Given the description of an element on the screen output the (x, y) to click on. 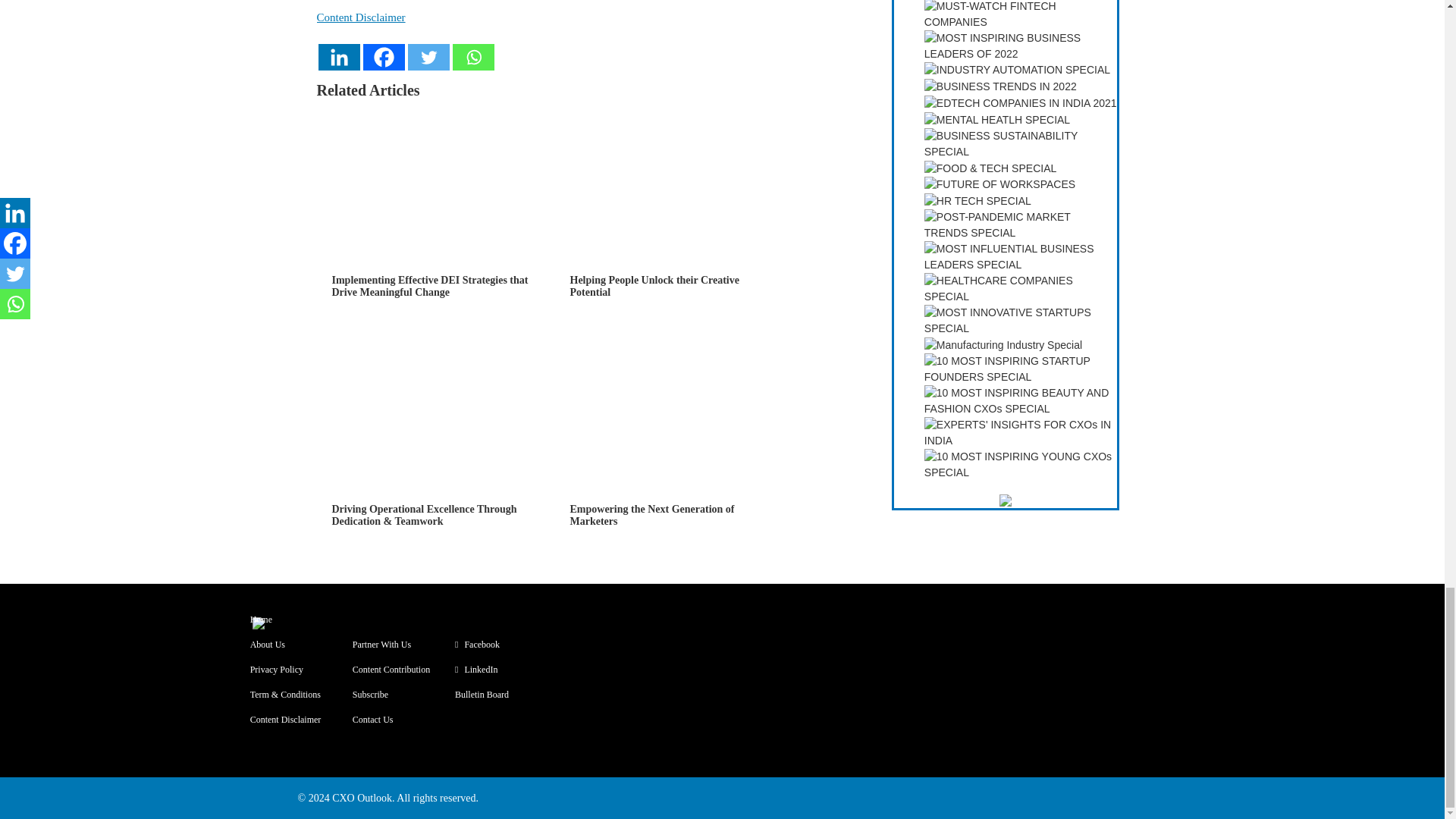
Empowering the Next Generation of Marketers (673, 449)
Content Disclaimer (361, 17)
Linkedin (338, 57)
Helping People Unlock their Creative Potential (673, 220)
Whatsapp (472, 57)
Facebook (383, 57)
Twitter (428, 57)
